Given the description of an element on the screen output the (x, y) to click on. 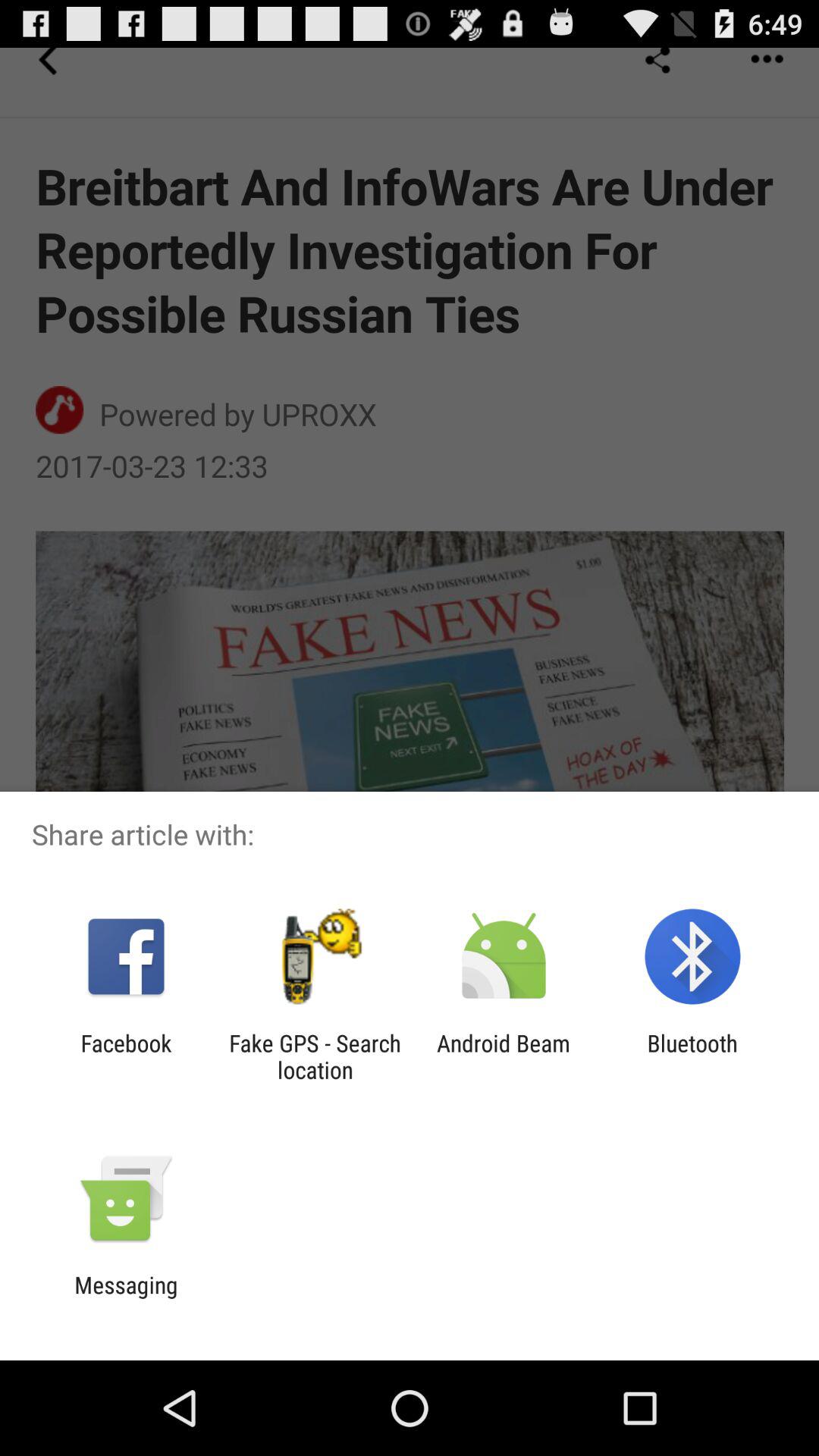
turn off the item to the right of android beam icon (692, 1056)
